Given the description of an element on the screen output the (x, y) to click on. 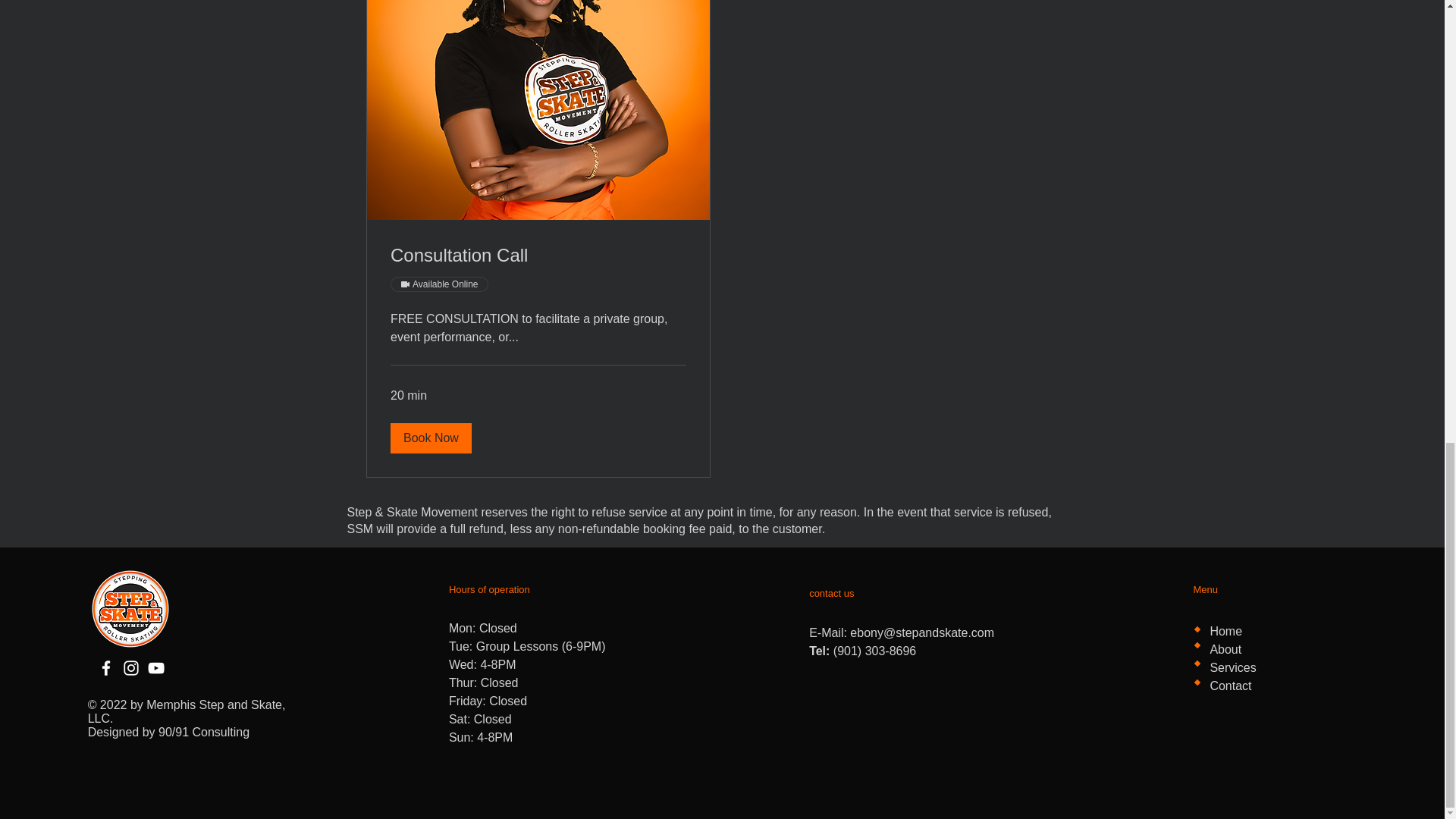
About (1225, 649)
Services (1232, 667)
Book Now (430, 438)
Contact (1229, 685)
Home (1225, 631)
Consultation Call (537, 255)
